Given the description of an element on the screen output the (x, y) to click on. 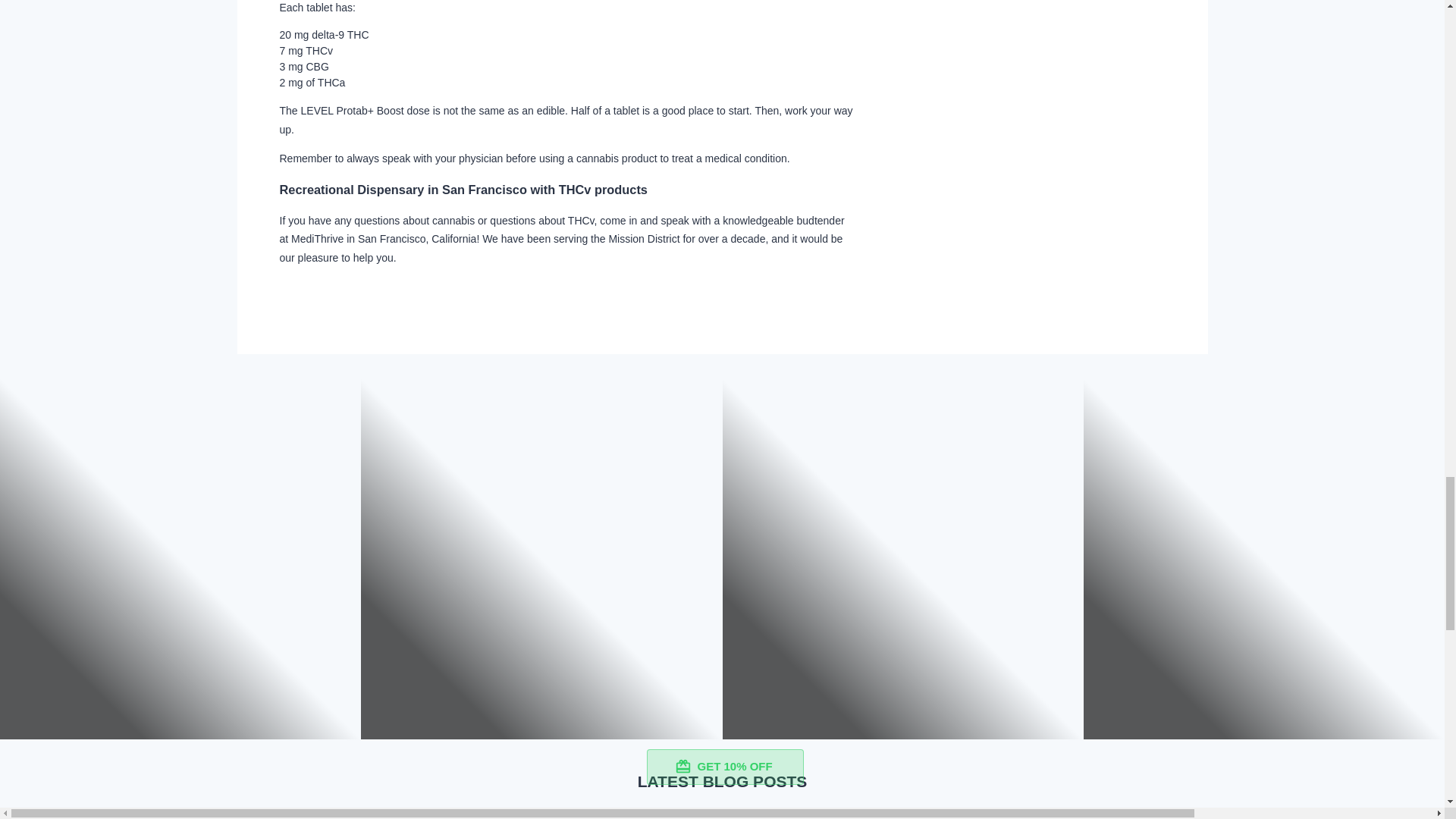
Mission District (643, 238)
